Given the description of an element on the screen output the (x, y) to click on. 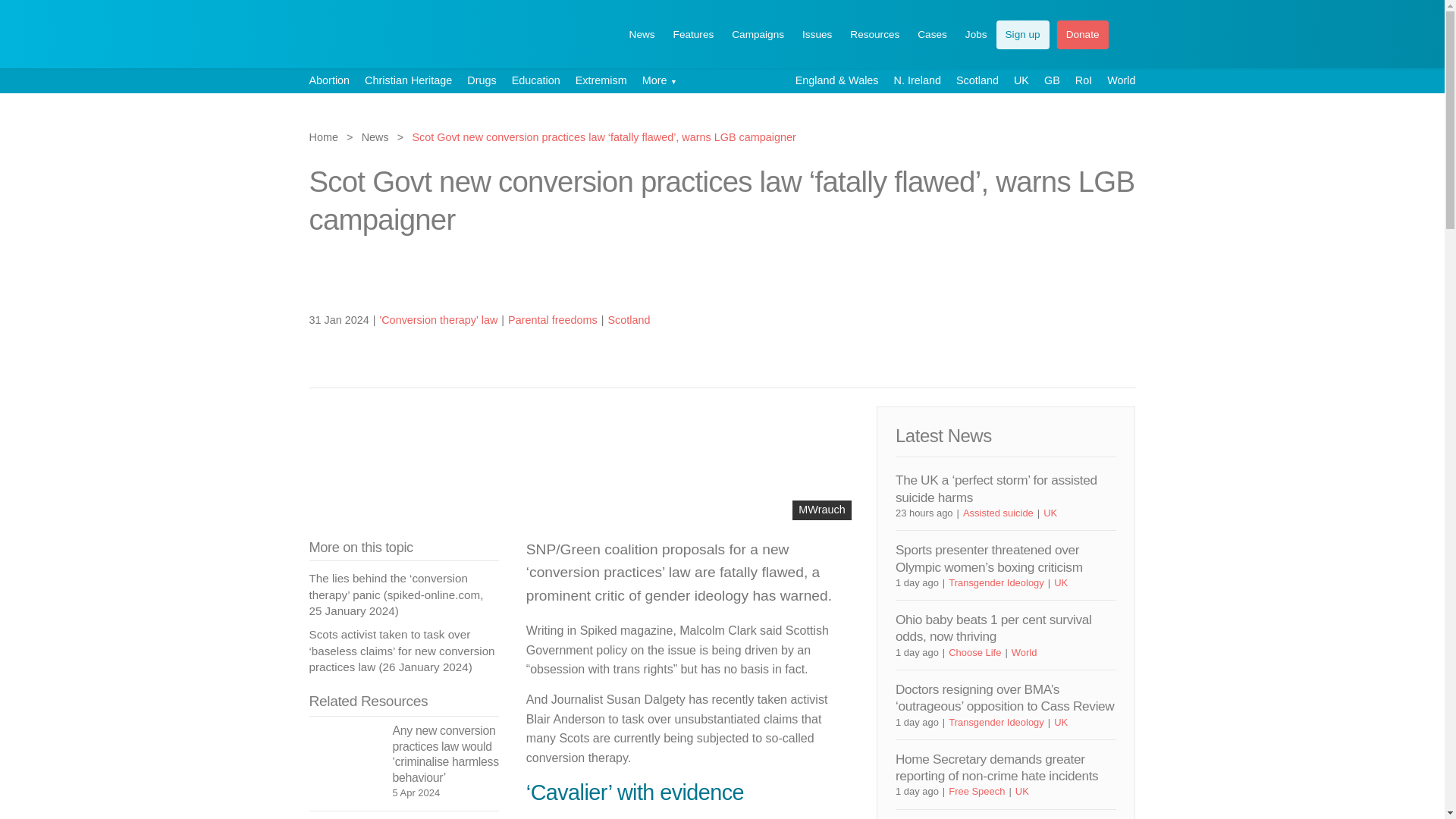
Open RSS Feed (1125, 318)
Share this on Twitter (1048, 318)
Share this on Facebook (1074, 273)
Share this through Email (1099, 318)
